Given the description of an element on the screen output the (x, y) to click on. 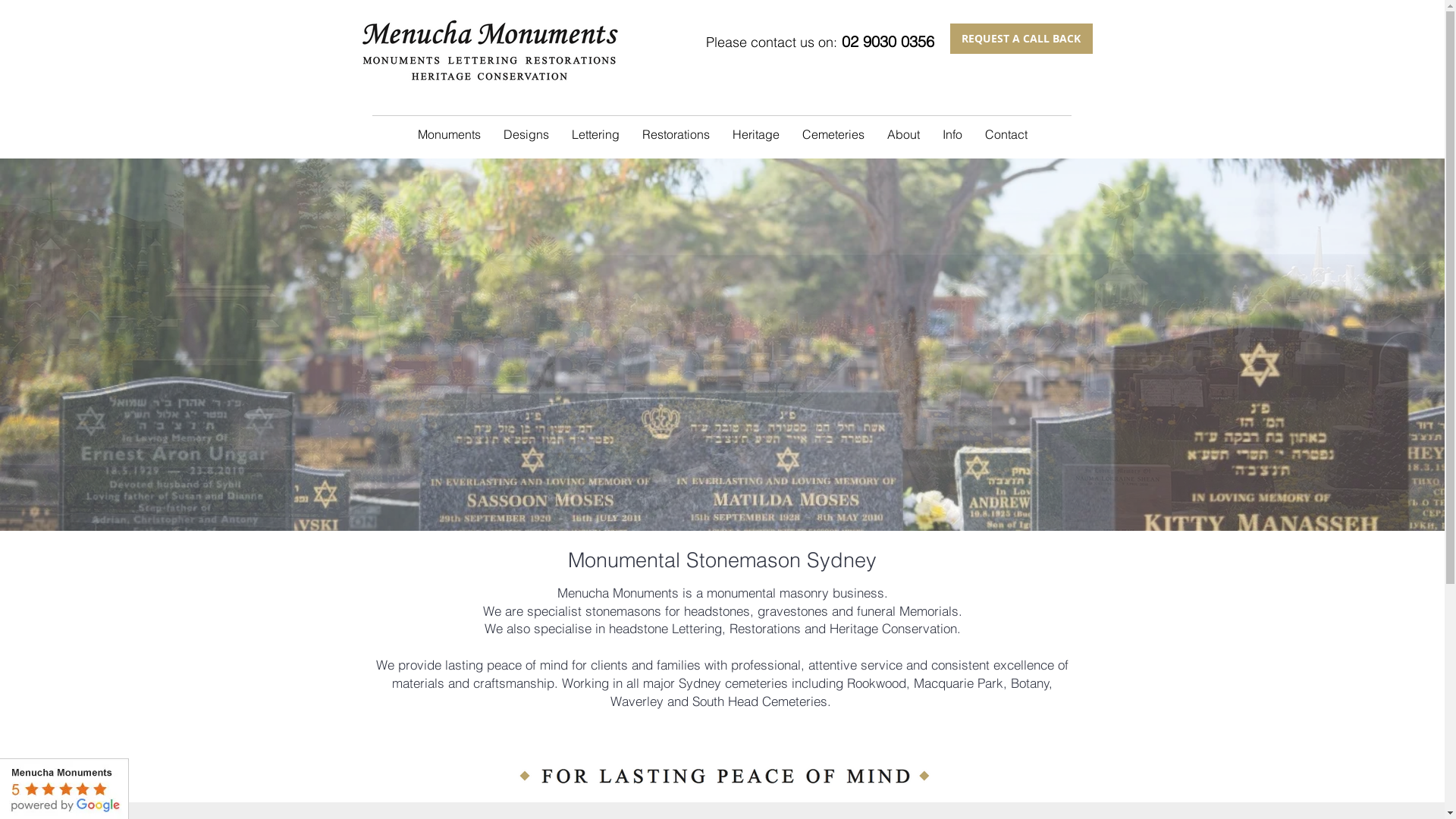
REQUEST A CALL BACK Element type: text (1020, 38)
Contact Element type: text (1005, 134)
Cemeteries Element type: text (832, 134)
